Given the description of an element on the screen output the (x, y) to click on. 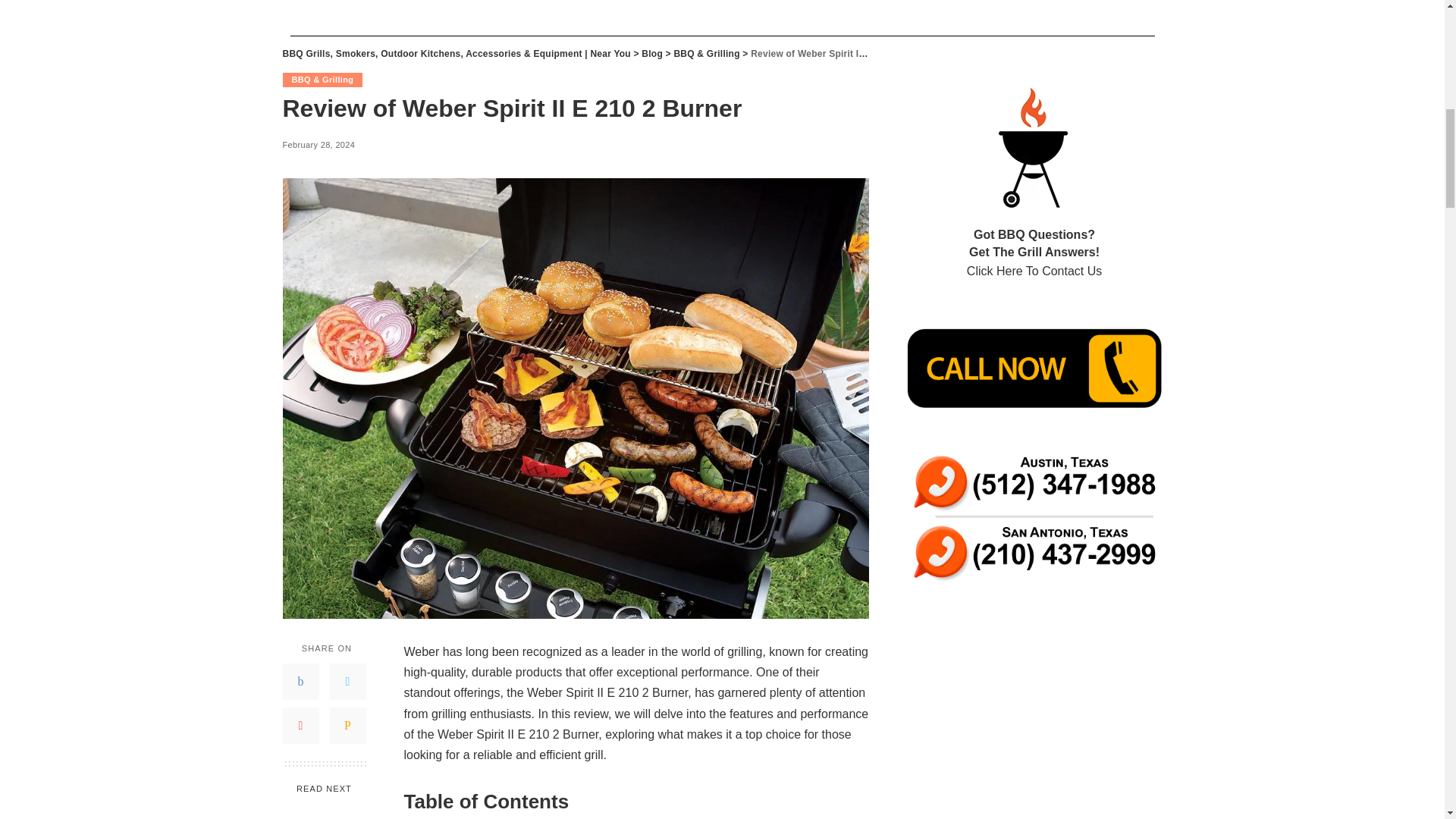
Email (347, 725)
Go to Blog. (652, 53)
Twitter (347, 681)
2024-02-28T17:24:25-05:00 (318, 145)
Blog (652, 53)
Pinterest (300, 725)
Facebook (300, 681)
